Given the description of an element on the screen output the (x, y) to click on. 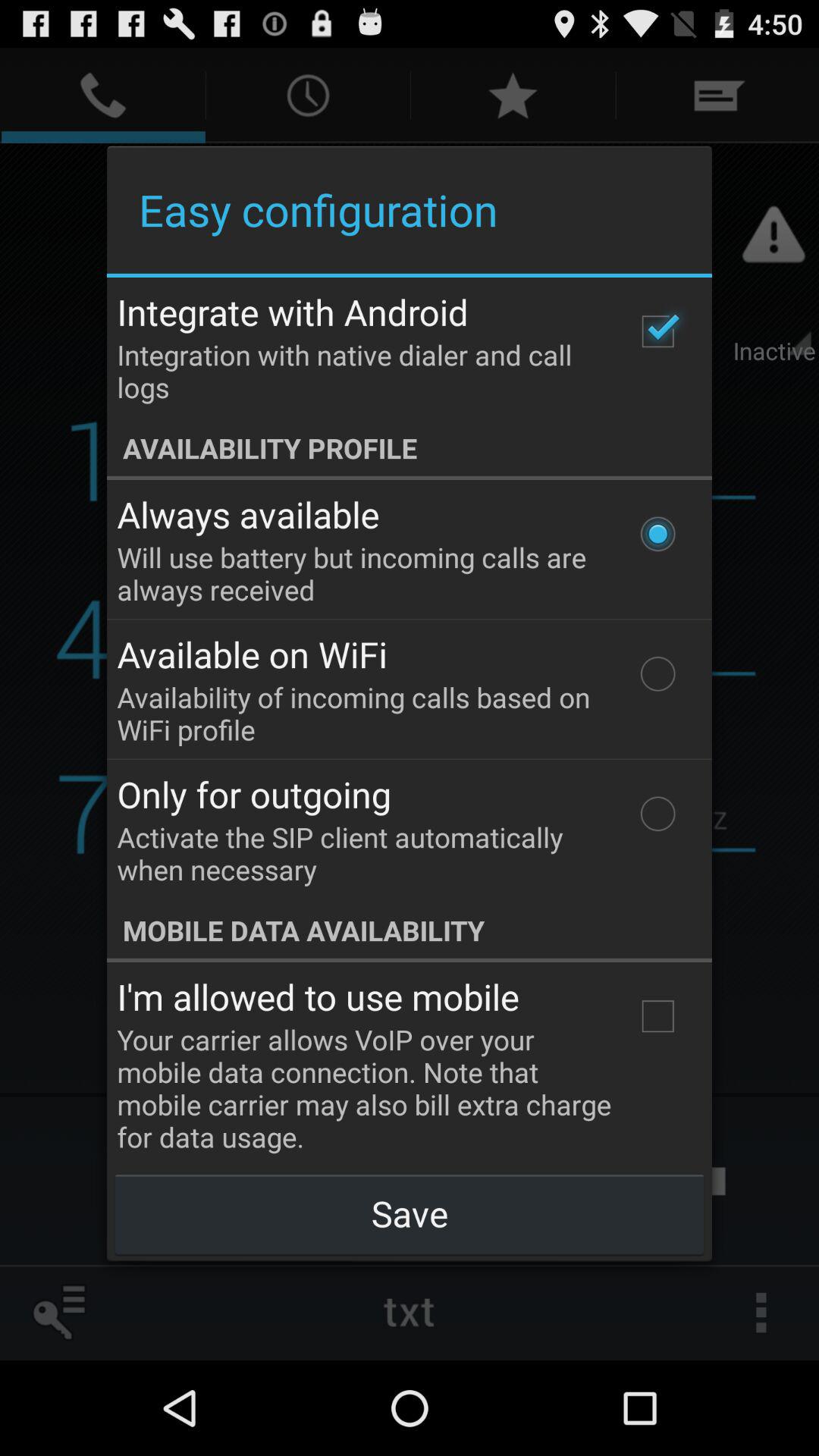
turn off the item next to the i m allowed (657, 1016)
